Given the description of an element on the screen output the (x, y) to click on. 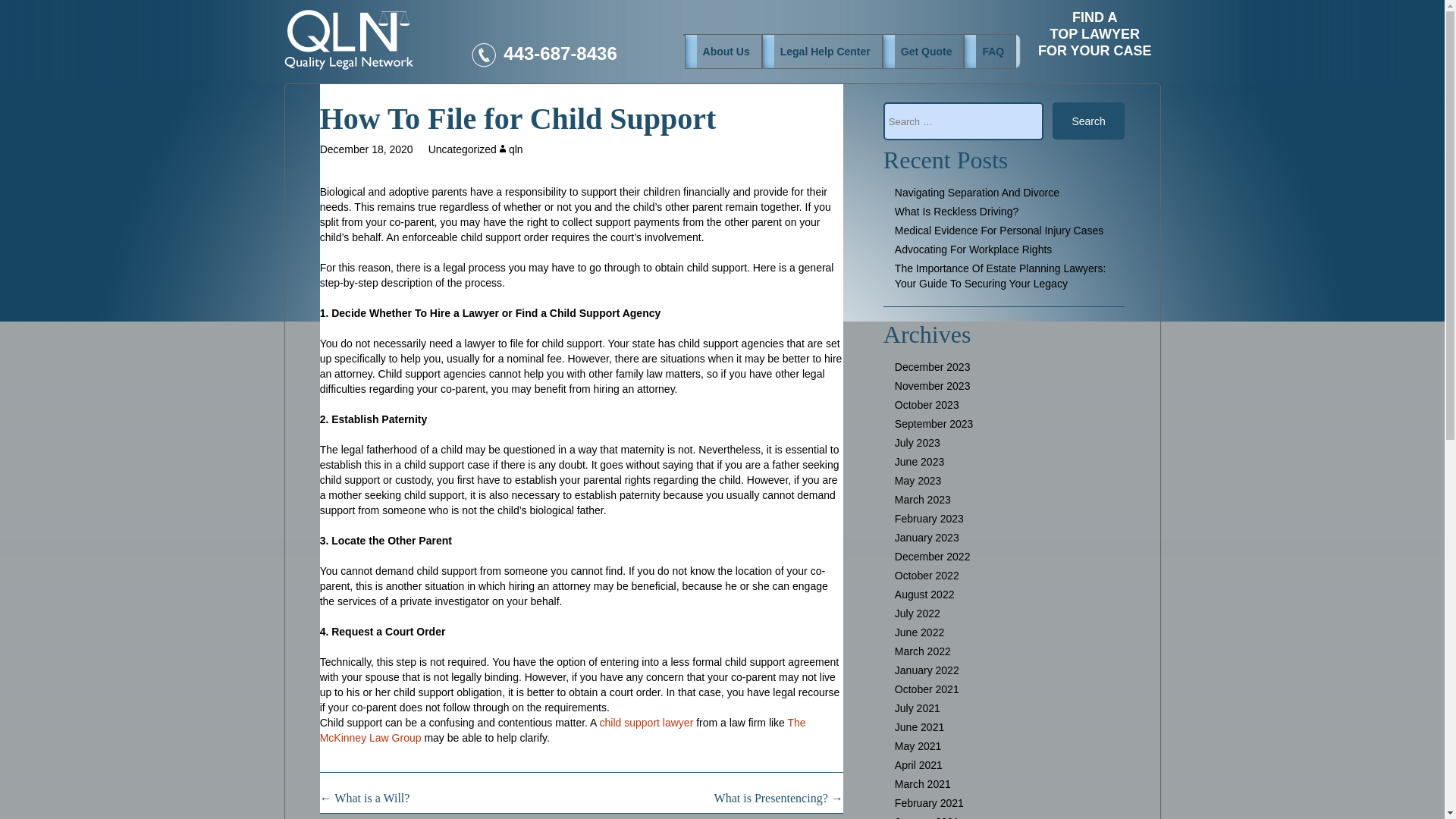
Search (1088, 120)
Get Quote (923, 51)
Legal Help Center (822, 51)
December 18, 2020 (1094, 29)
The McKinney Law Group (366, 149)
Uncategorized (563, 729)
How To File for Child Support (462, 149)
Navigating Separation And Divorce (581, 112)
child support lawyer (977, 192)
Permalink to How To File for Child Support (646, 722)
qln (366, 149)
View all posts by qln (509, 149)
Search (509, 149)
